Given the description of an element on the screen output the (x, y) to click on. 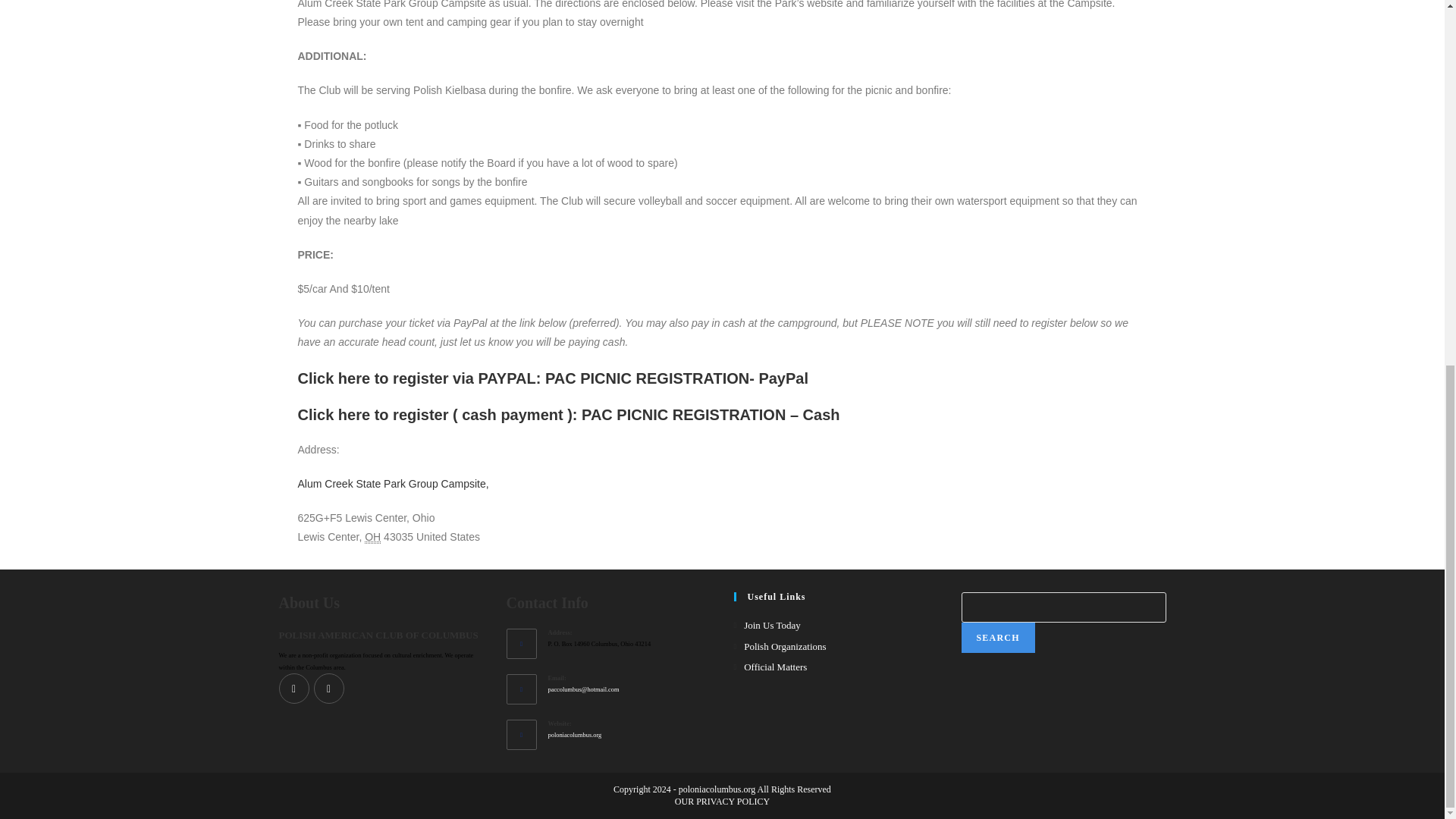
Ohio (372, 536)
